Given the description of an element on the screen output the (x, y) to click on. 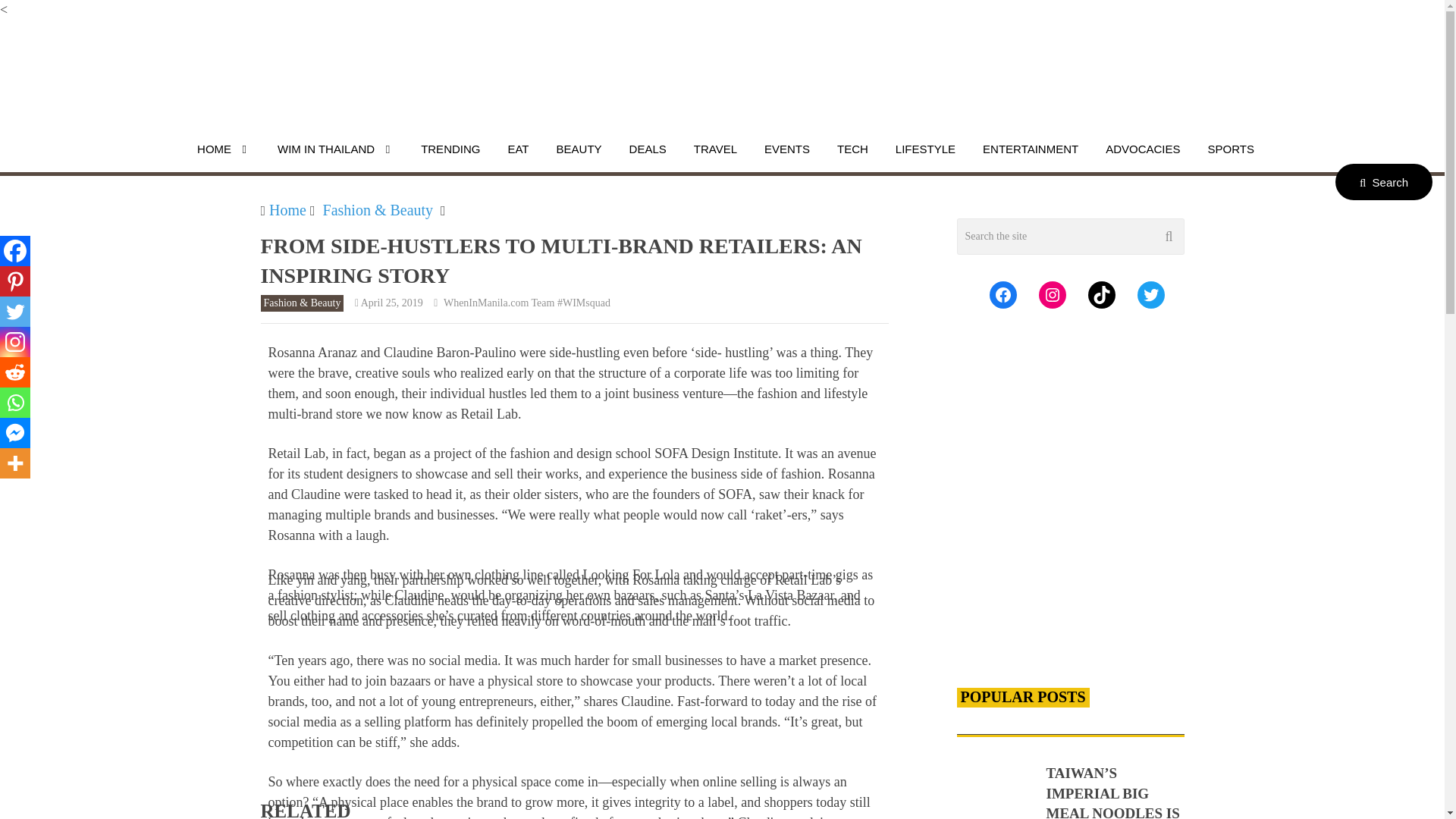
TECH (852, 148)
ADVOCACIES (1142, 148)
HOME (224, 148)
Twitter (15, 311)
EAT (518, 148)
WIM IN THAILAND (335, 148)
DEALS (647, 148)
  Search (1383, 181)
ENTERTAINMENT (1030, 148)
Pinterest (15, 281)
